Given the description of an element on the screen output the (x, y) to click on. 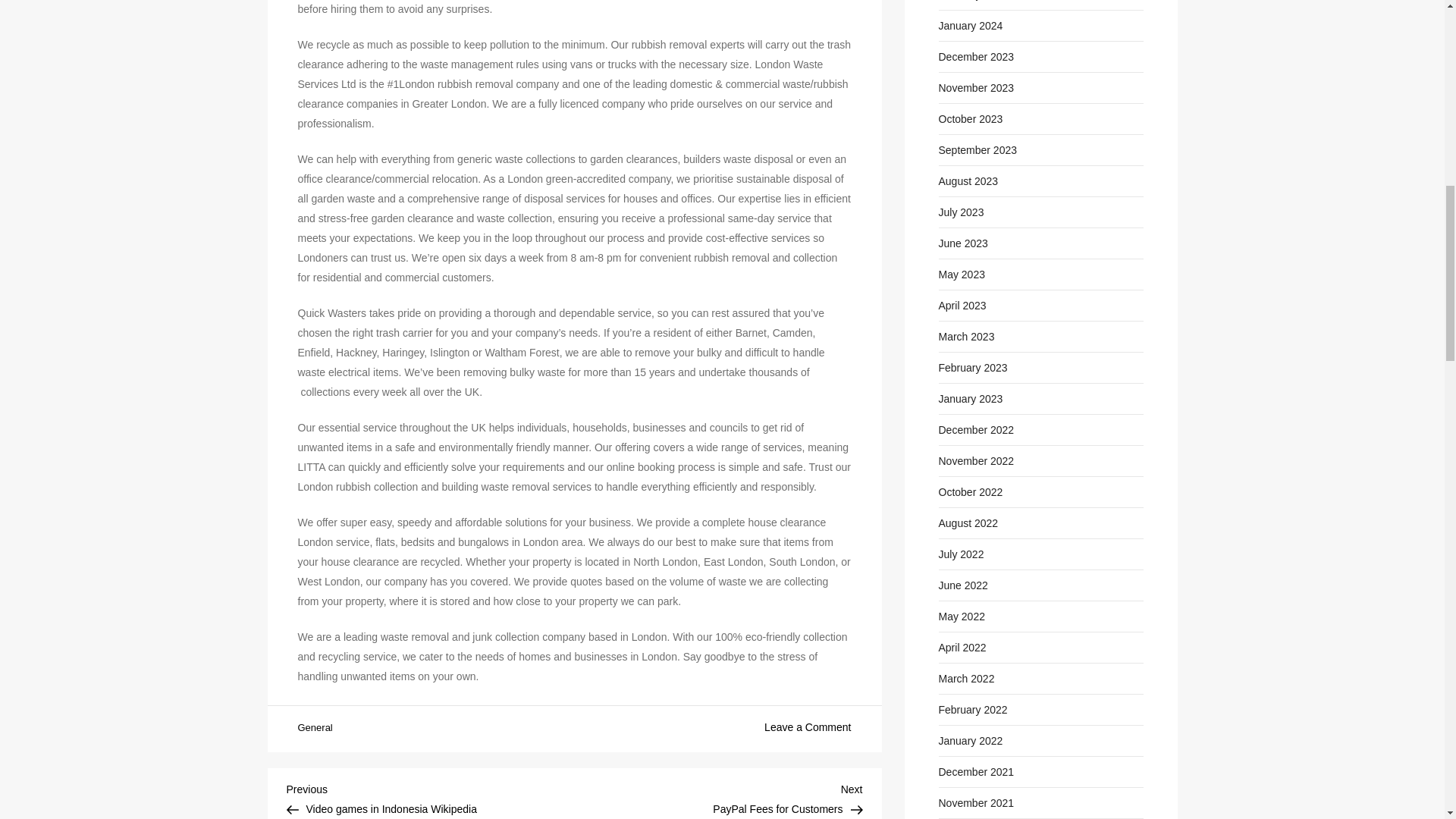
February 2024 (973, 2)
October 2023 (971, 118)
July 2023 (961, 211)
General (314, 727)
April 2023 (963, 305)
January 2024 (971, 25)
August 2023 (968, 180)
December 2023 (430, 796)
March 2023 (976, 56)
